Given the description of an element on the screen output the (x, y) to click on. 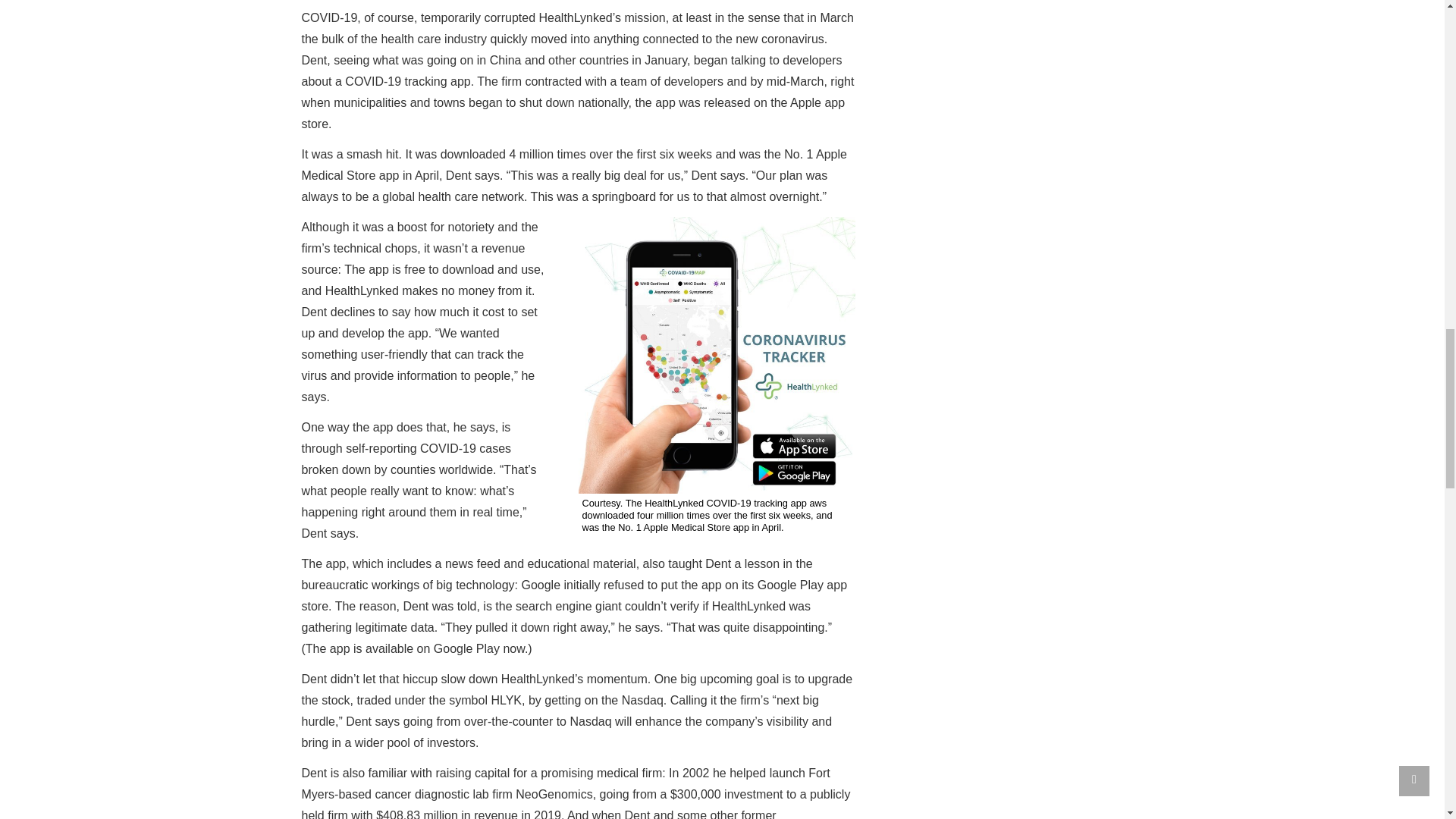
3rd party ad content (1010, 101)
3rd party ad content (1010, 313)
